Given the description of an element on the screen output the (x, y) to click on. 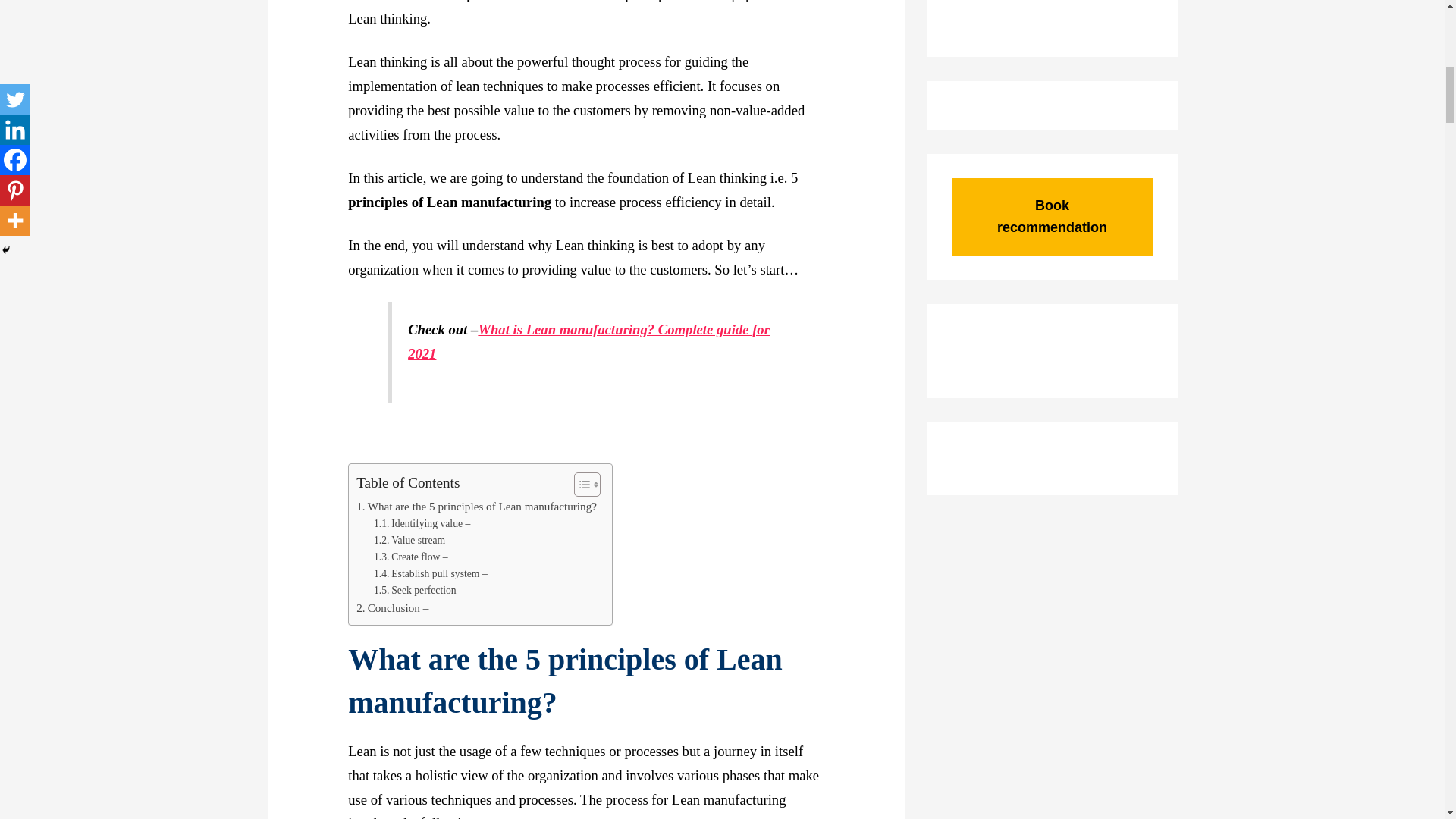
What are the 5 principles of Lean manufacturing? (476, 506)
What are the 5 principles of Lean manufacturing? (476, 506)
What is Lean manufacturing? Complete guide for 2021 (588, 341)
